Given the description of an element on the screen output the (x, y) to click on. 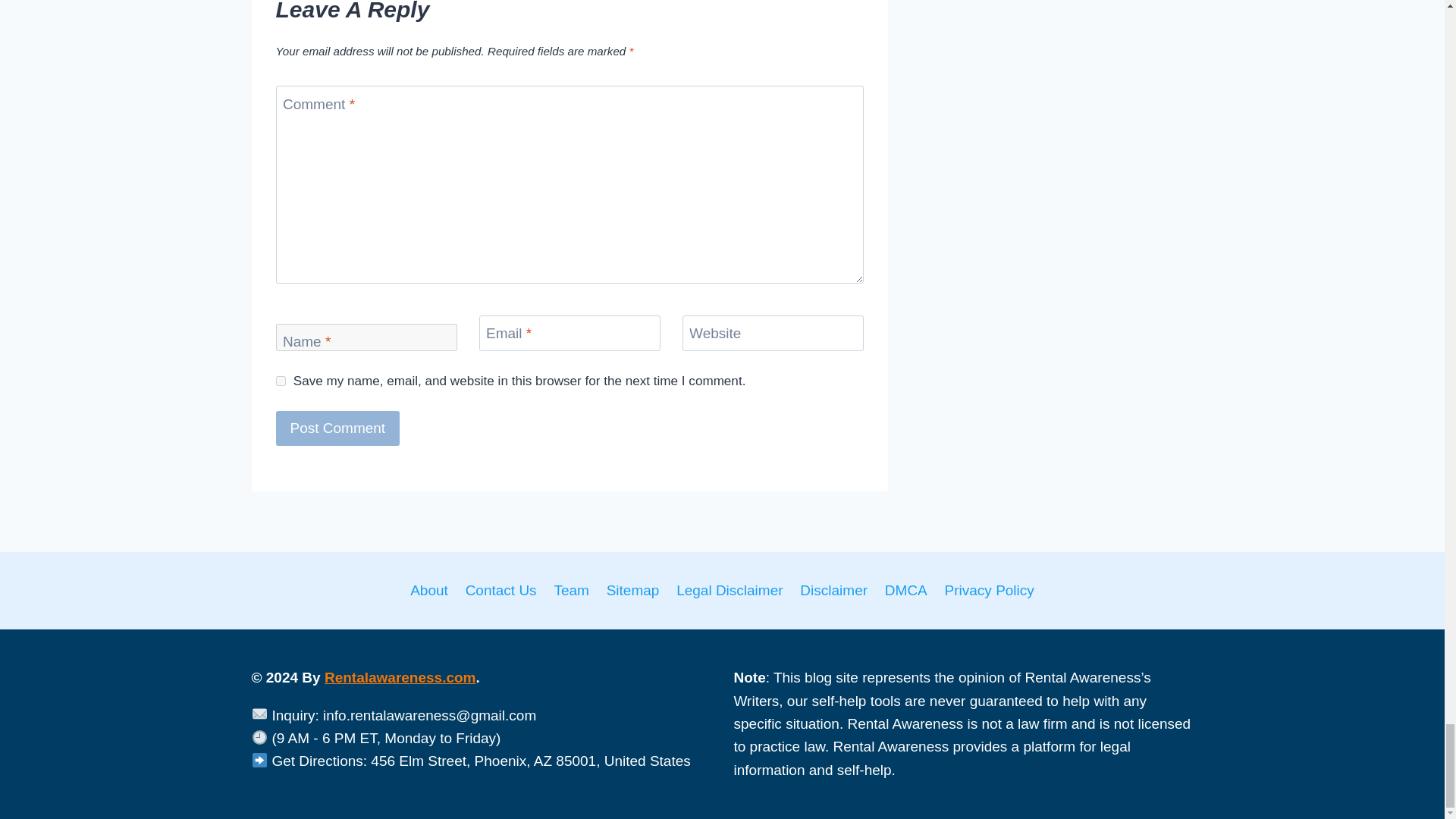
yes (280, 380)
Post Comment (338, 428)
